Given the description of an element on the screen output the (x, y) to click on. 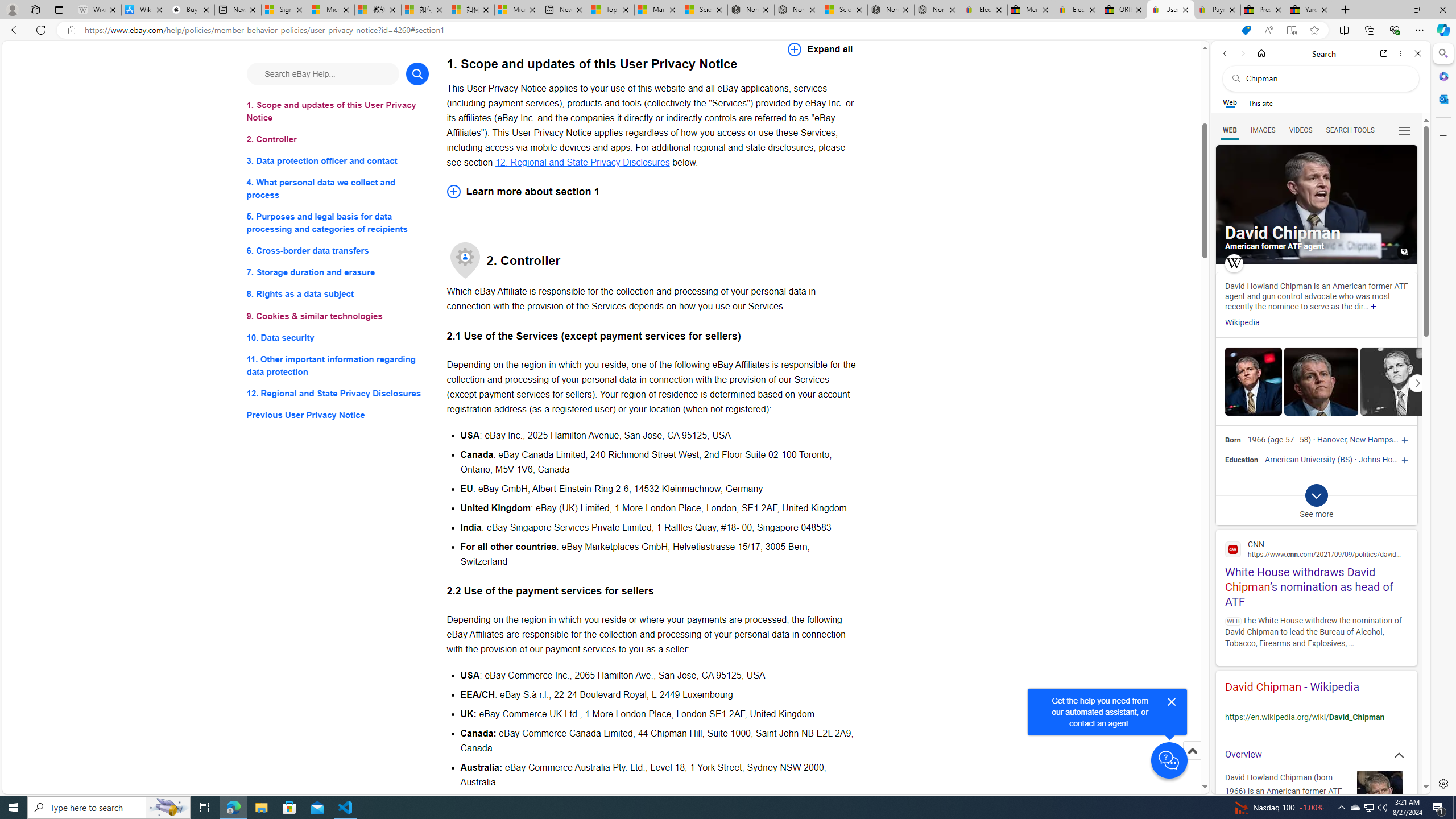
Click to scroll right (1416, 382)
Previous User Privacy Notice (337, 414)
10. Data security (337, 336)
8. Rights as a data subject (337, 293)
8. Rights as a data subject (337, 293)
Born (1232, 439)
Class: b_serphb (1404, 130)
Scroll to top (1191, 750)
6. Cross-border data transfers (337, 250)
Hanover (1331, 439)
12. Regional and State Privacy Disclosures (337, 392)
